Given the description of an element on the screen output the (x, y) to click on. 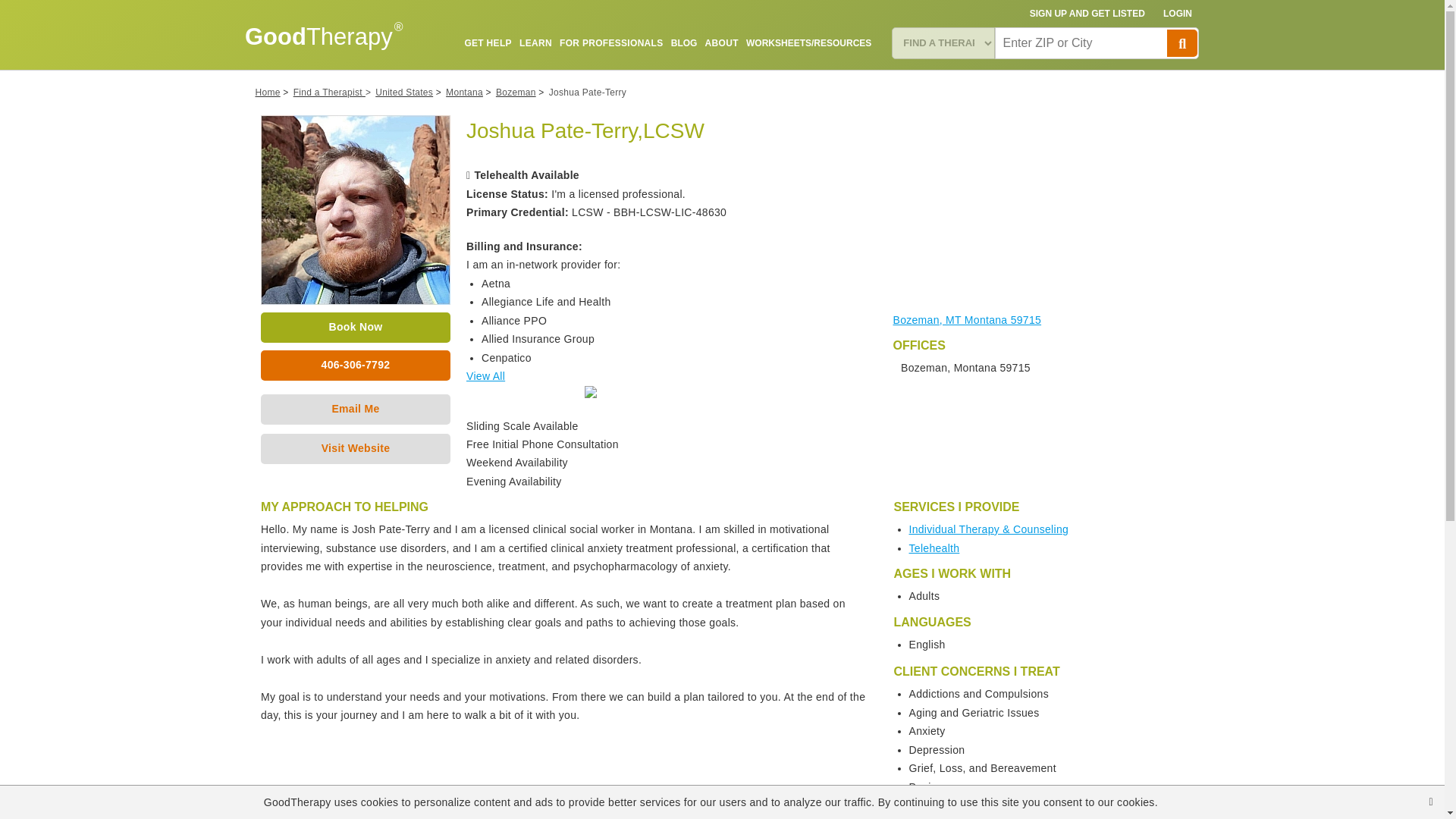
NEWSLETTER (840, 77)
BLOG (684, 42)
P (1181, 42)
LOGIN (1177, 13)
SIGN UP AND GET LISTED (1087, 13)
